Given the description of an element on the screen output the (x, y) to click on. 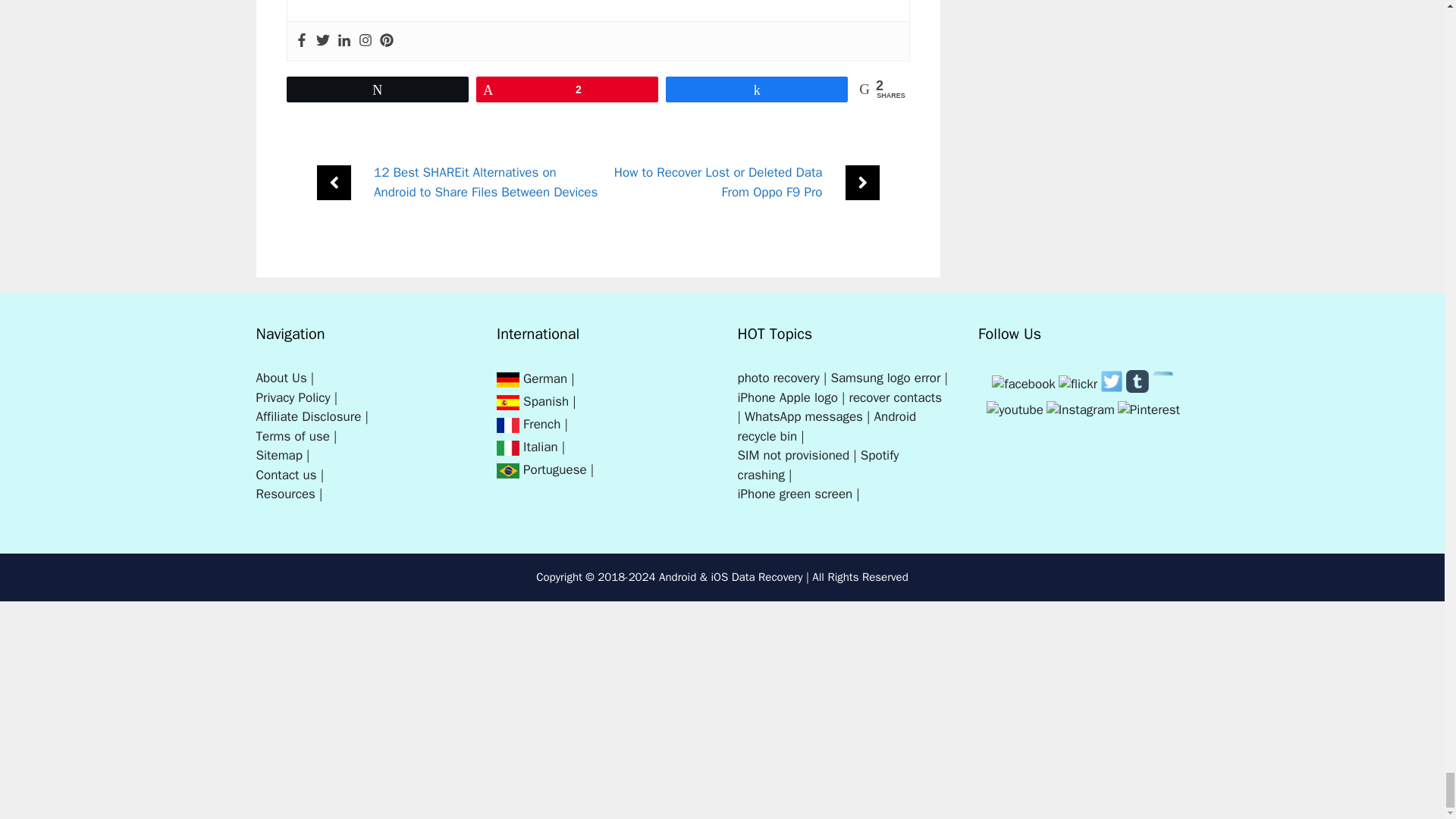
facebook (1023, 383)
Twitter (1111, 381)
flickr (1077, 384)
flickr (1078, 383)
facebook (1023, 384)
Twitter (1111, 390)
Tumblr (1137, 390)
